Given the description of an element on the screen output the (x, y) to click on. 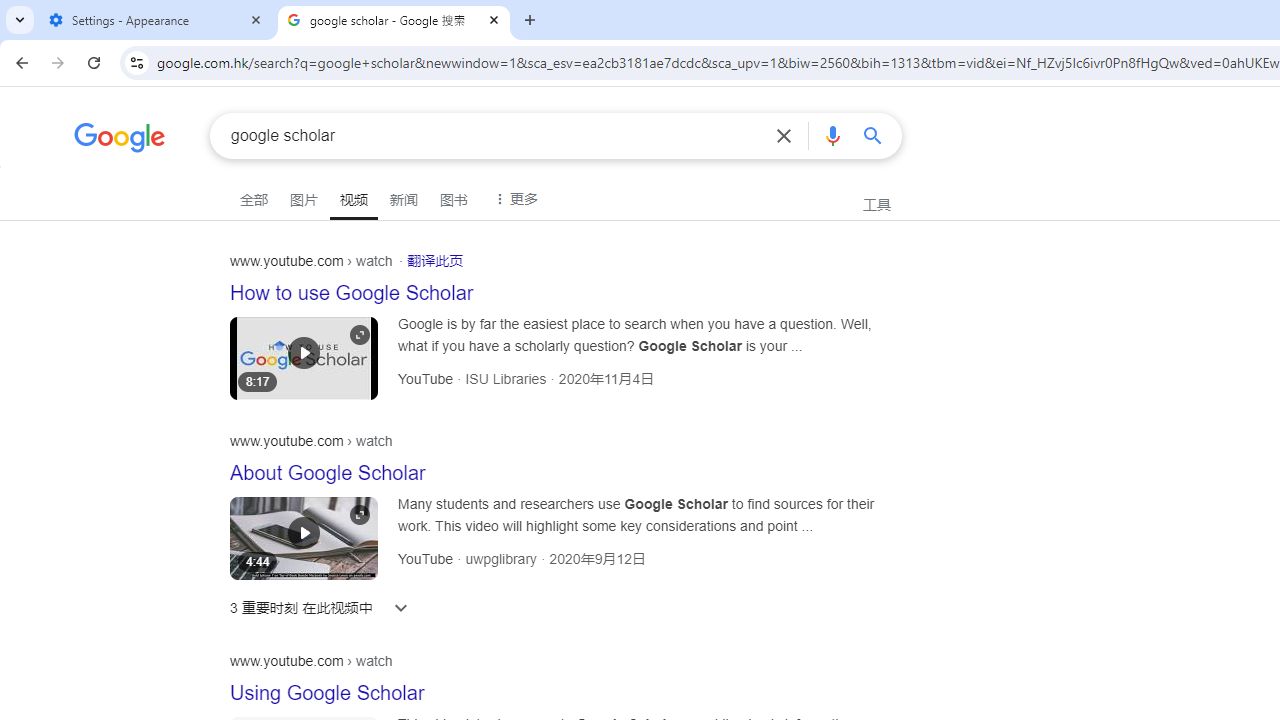
Settings - Appearance (156, 20)
Google (120, 139)
